Given the description of an element on the screen output the (x, y) to click on. 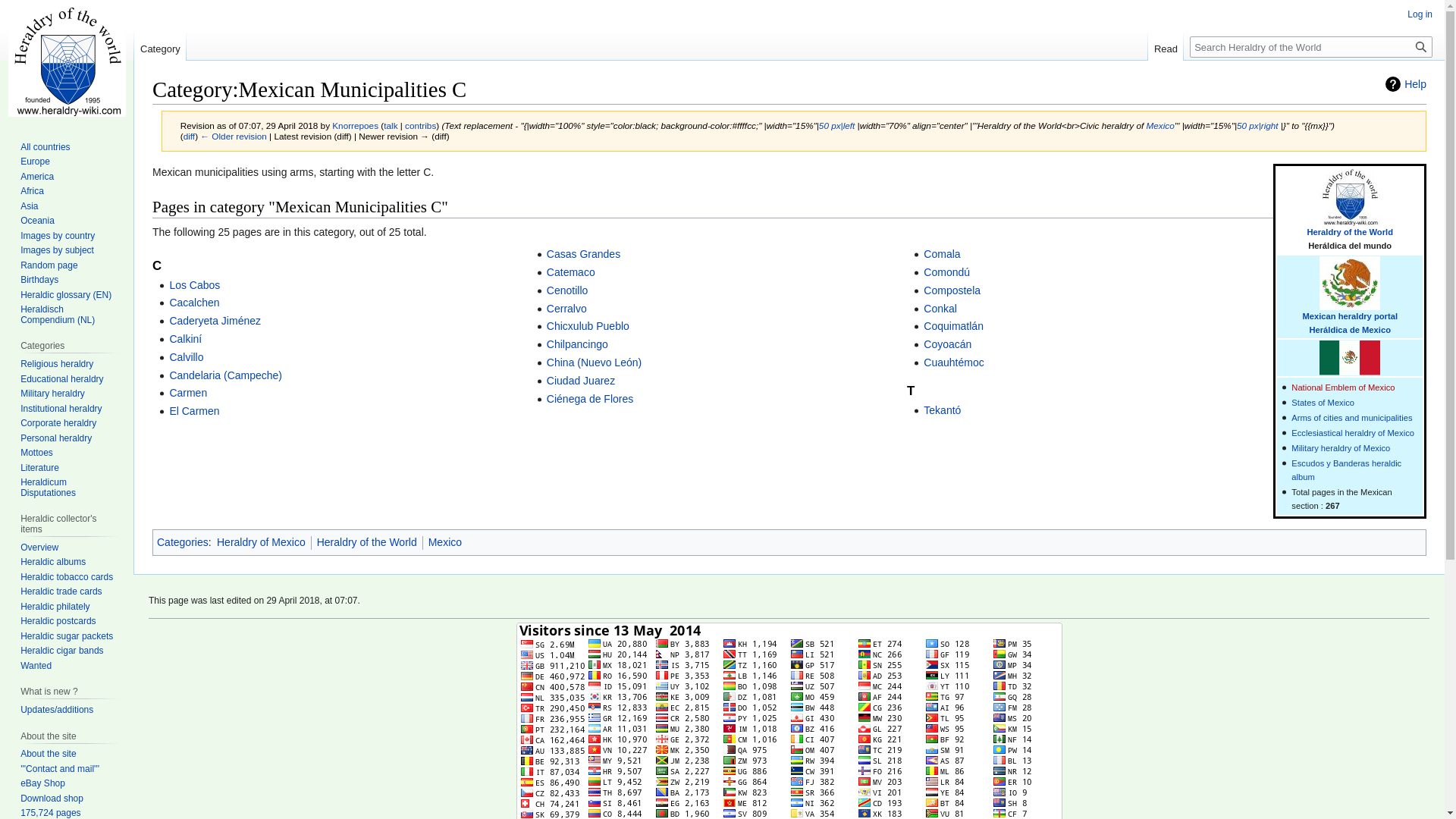
talk (390, 125)
Search (1420, 46)
Mexico (1351, 417)
Arms of cities and municipalities (1351, 417)
States of Mexico (1322, 402)
Knorrepoes (354, 125)
Calvillo (185, 357)
Mexico (1159, 125)
Cenotillo (567, 290)
File:Mexico.jpg (1257, 125)
Ciudad Juarez (580, 380)
Mexico (1349, 316)
El Carmen (193, 410)
contribs (419, 125)
